Given the description of an element on the screen output the (x, y) to click on. 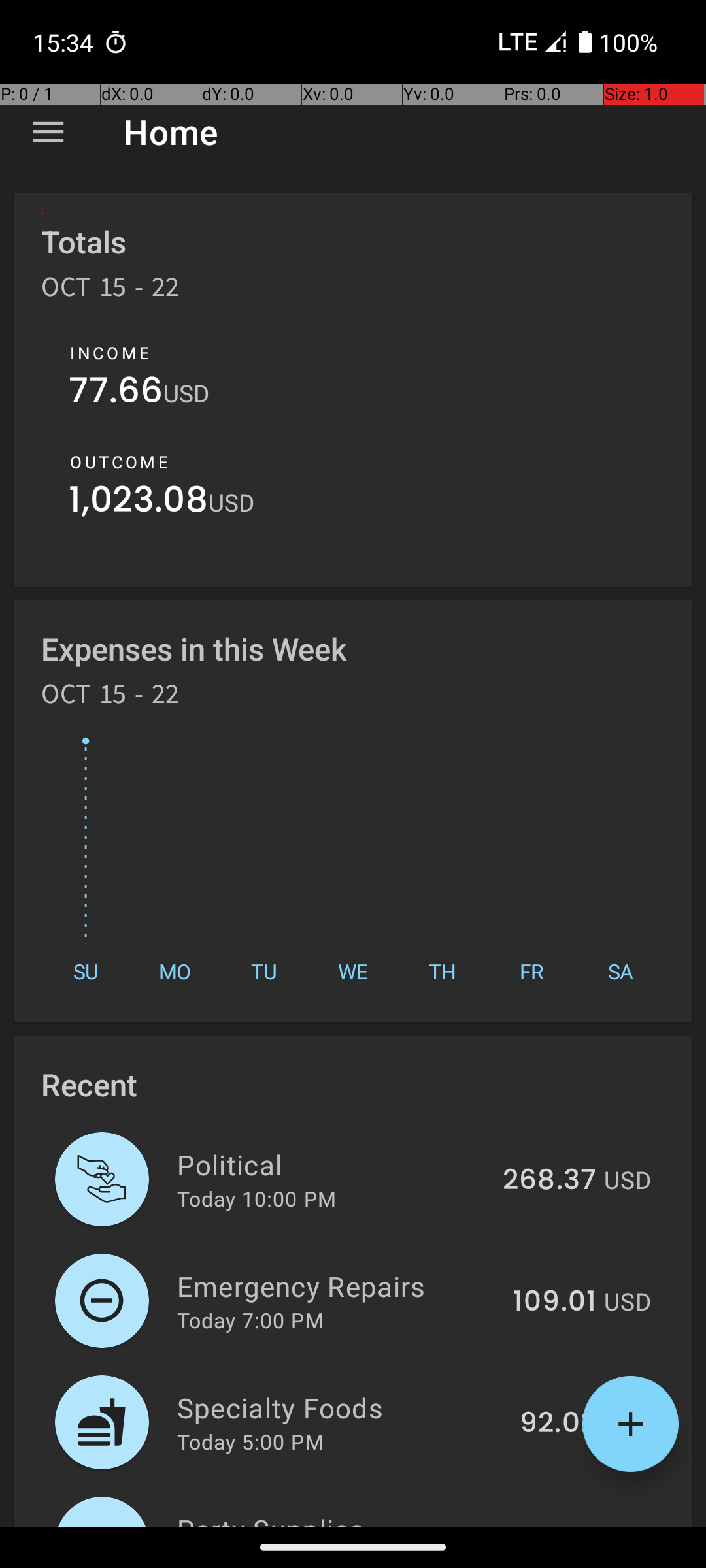
77.66 Element type: android.widget.TextView (115, 393)
1,023.08 Element type: android.widget.TextView (138, 502)
Political Element type: android.widget.TextView (332, 1164)
Today 10:00 PM Element type: android.widget.TextView (256, 1198)
268.37 Element type: android.widget.TextView (549, 1180)
Emergency Repairs Element type: android.widget.TextView (337, 1285)
Today 7:00 PM Element type: android.widget.TextView (250, 1320)
109.01 Element type: android.widget.TextView (554, 1301)
Specialty Foods Element type: android.widget.TextView (340, 1407)
Today 5:00 PM Element type: android.widget.TextView (250, 1441)
92.02 Element type: android.widget.TextView (557, 1423)
Party Supplies Element type: android.widget.TextView (346, 1518)
195.1 Element type: android.widget.TextView (563, 1524)
